Given the description of an element on the screen output the (x, y) to click on. 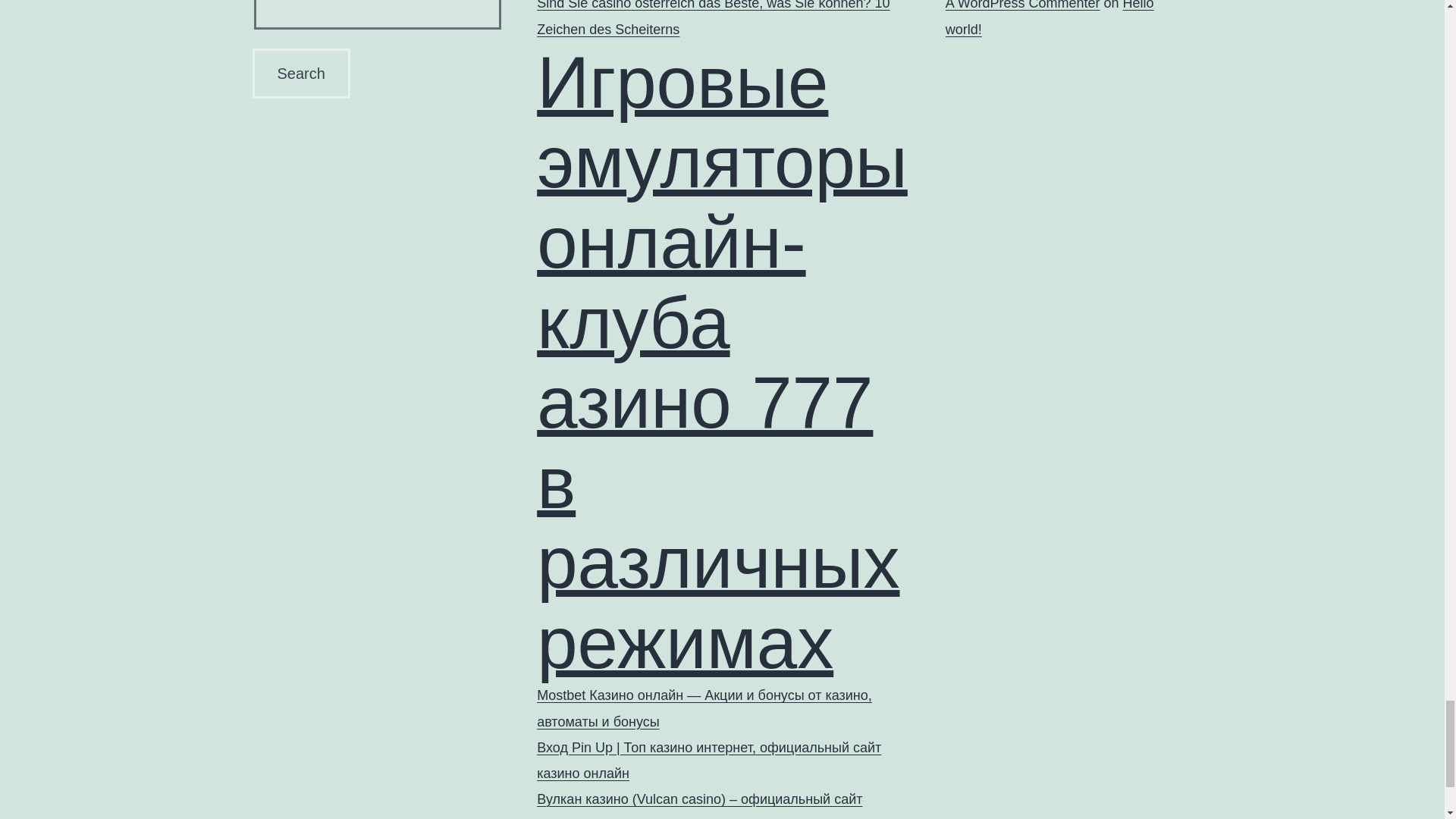
Hello world! (1049, 18)
A WordPress Commenter (1022, 5)
Search (300, 73)
Search (300, 73)
Search (300, 73)
